Given the description of an element on the screen output the (x, y) to click on. 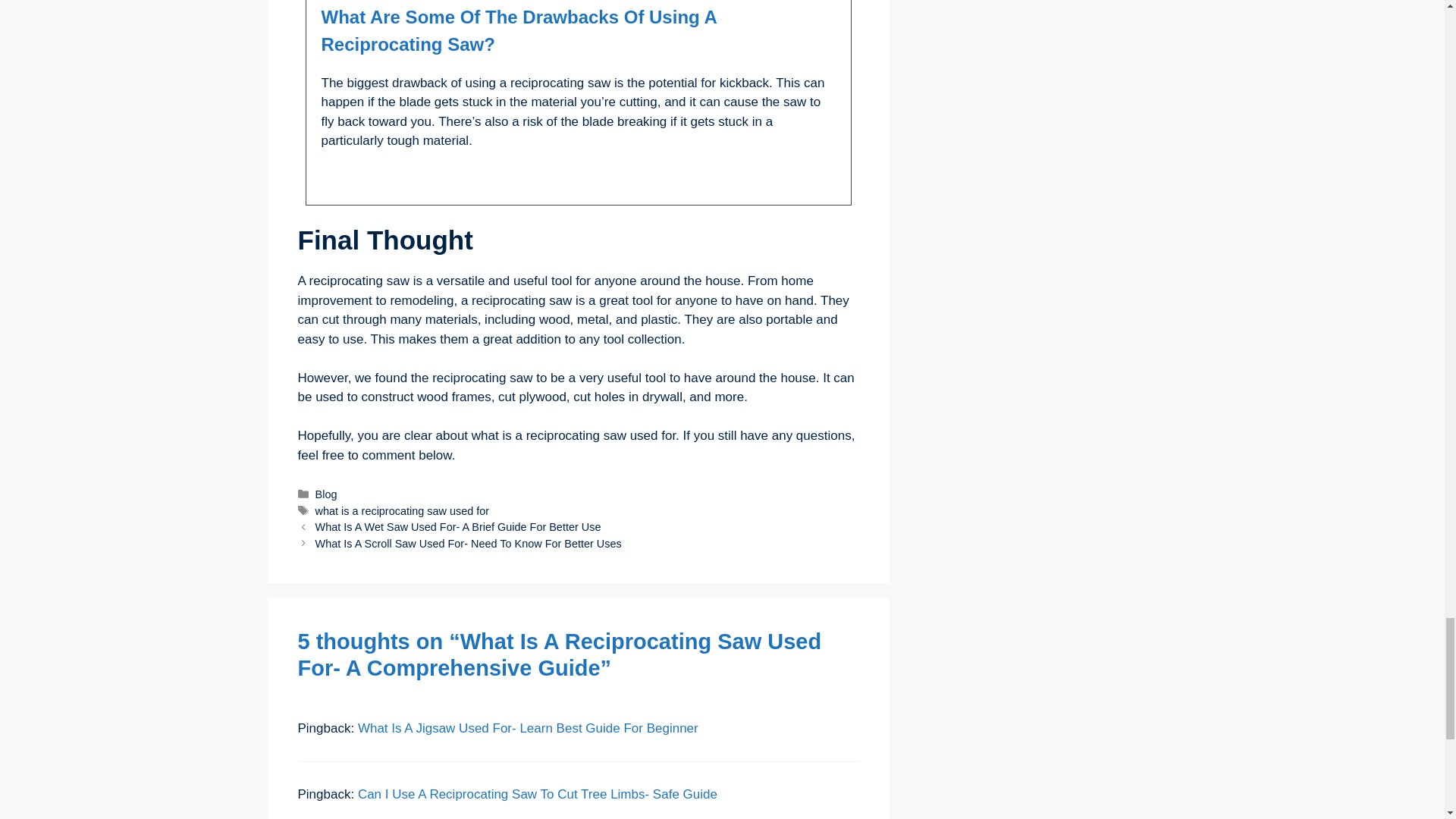
Can I Use A Reciprocating Saw To Cut Tree Limbs- Safe Guide (537, 794)
What Is A Scroll Saw Used For- Need To Know For Better Uses (468, 543)
Blog (326, 494)
What Is A Jigsaw Used For- Learn Best Guide For Beginner (528, 728)
What Is A Wet Saw Used For- A Brief Guide For Better Use (458, 526)
what is a reciprocating saw used for (402, 510)
